Given the description of an element on the screen output the (x, y) to click on. 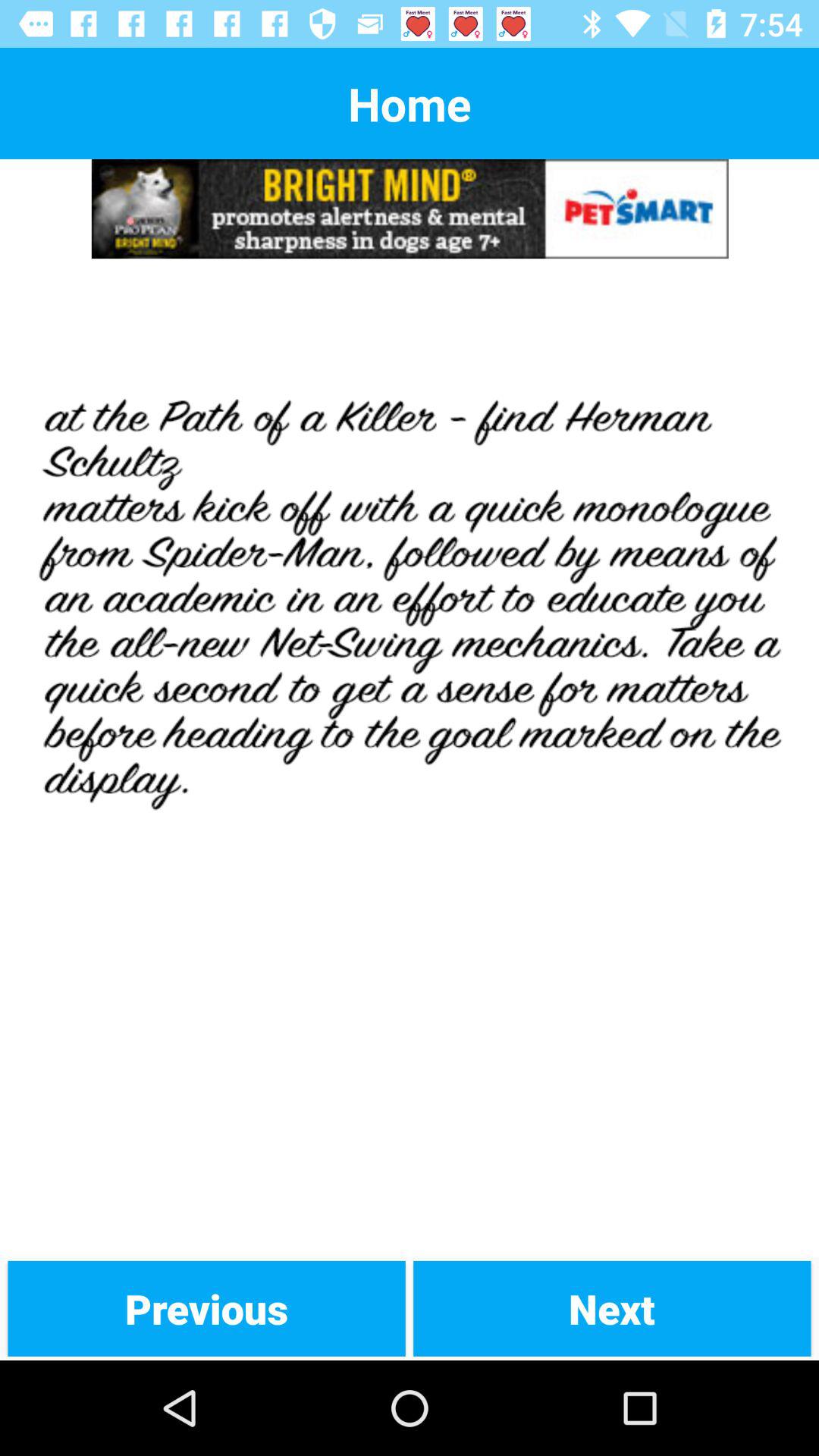
advertisement banner (409, 208)
